Given the description of an element on the screen output the (x, y) to click on. 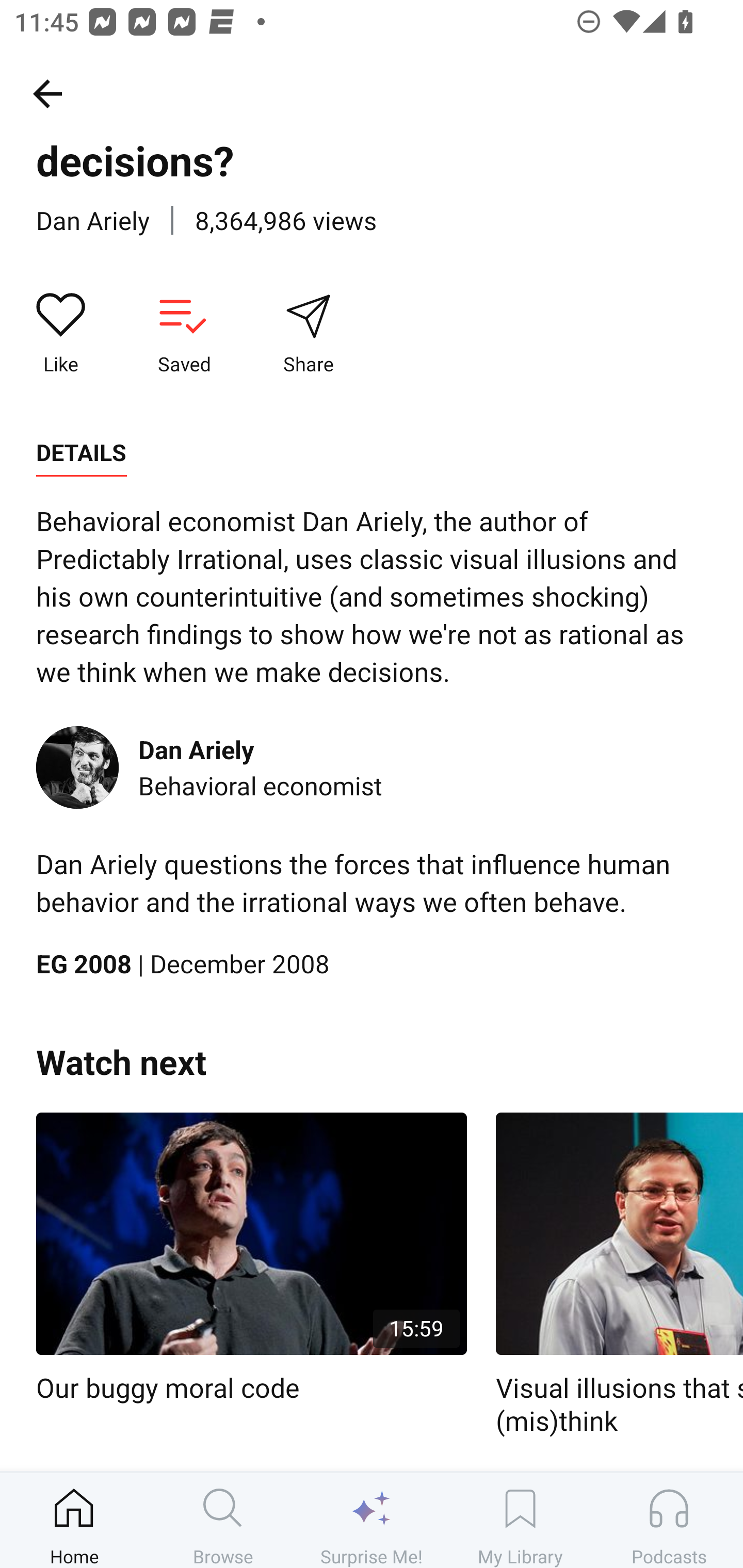
History, back (47, 92)
Like (60, 333)
Saved (183, 333)
Share (308, 333)
DETAILS (80, 452)
15:59 Our buggy moral code (251, 1258)
Visual illusions that show how we (mis)think (619, 1275)
Home (74, 1520)
Browse (222, 1520)
Surprise Me! (371, 1520)
My Library (519, 1520)
Podcasts (668, 1520)
